Given the description of an element on the screen output the (x, y) to click on. 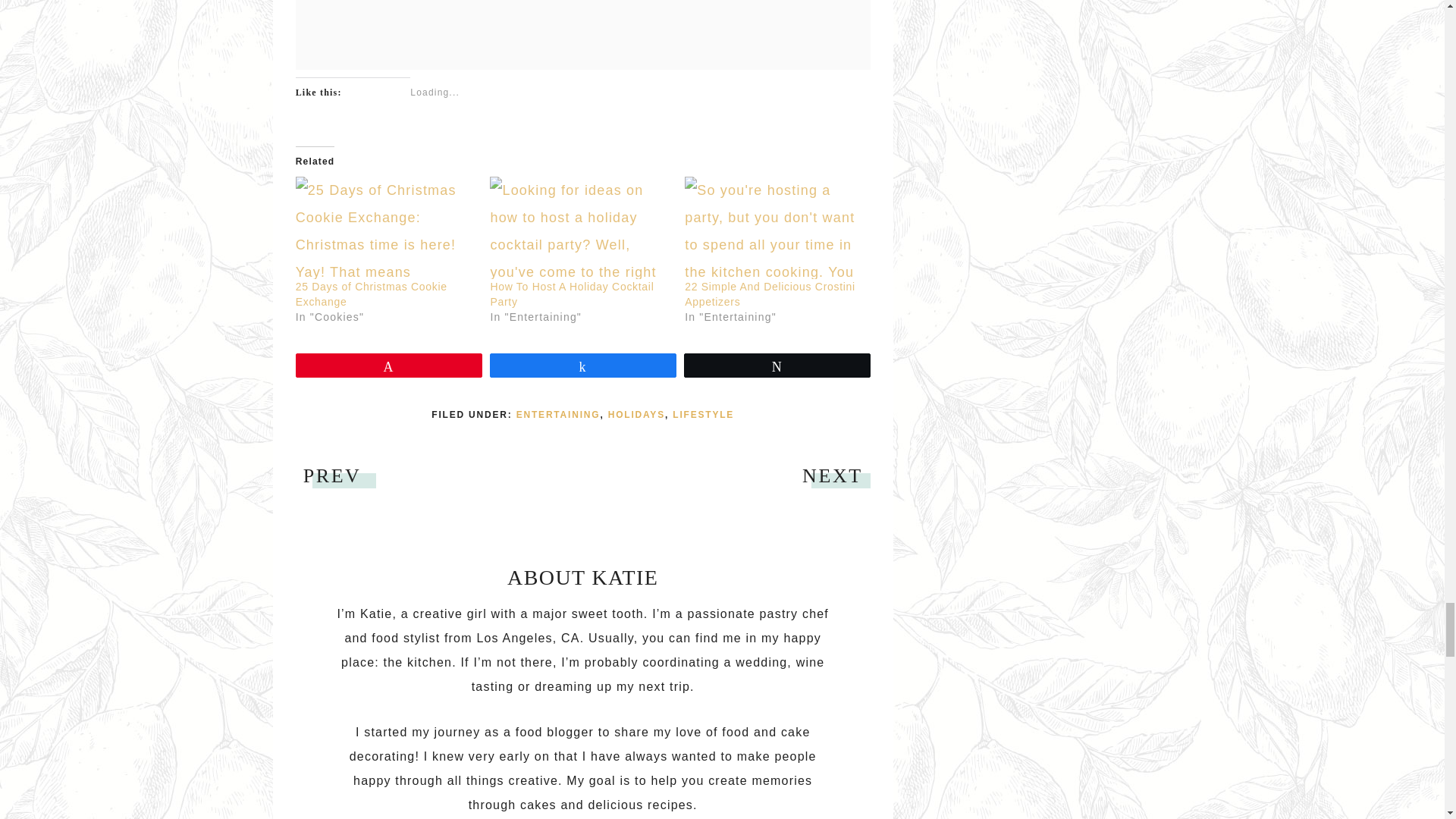
25 Days of Christmas Cookie Exchange (385, 227)
22 Simple And Delicious Crostini Appetizers (774, 227)
How To Host A Holiday Cocktail Party (571, 293)
22 Simple And Delicious Crostini Appetizers (770, 293)
How To Host A Holiday Cocktail Party (579, 227)
25 Days of Christmas Cookie Exchange (370, 293)
